Given the description of an element on the screen output the (x, y) to click on. 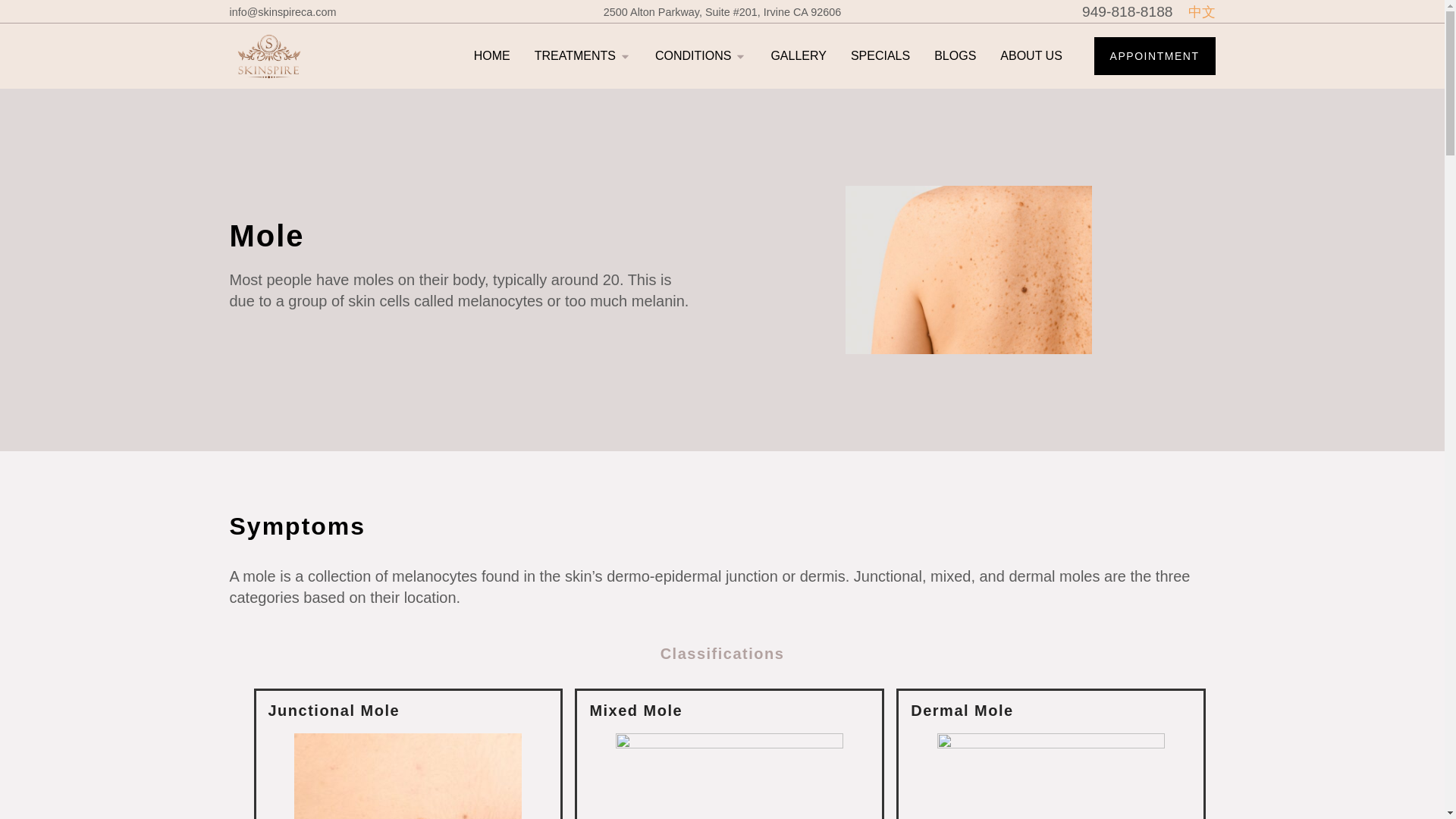
ABOUT US (1031, 55)
GALLERY (798, 55)
HOME (492, 55)
SPECIALS (880, 55)
BLOGS (954, 55)
949-818-8188 (1127, 12)
